Given the description of an element on the screen output the (x, y) to click on. 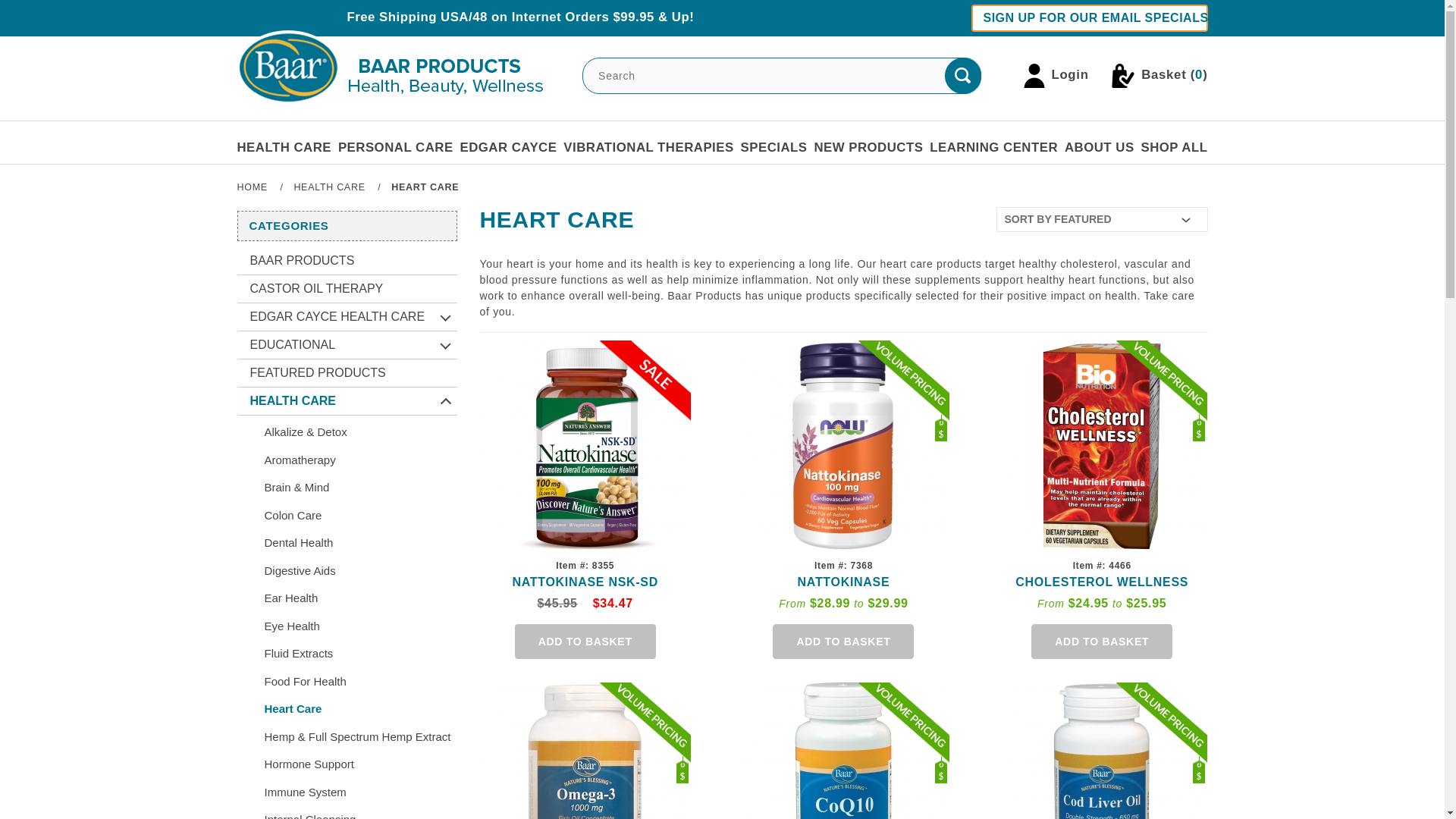
PERSONAL CARE (394, 147)
ABOUT US (1099, 147)
Health Care (293, 405)
Castor Oil Therapy (317, 293)
NEW PRODUCTS (868, 147)
Dental Health (352, 540)
Home (252, 187)
SIGN UP FOR OUR EMAIL SPECIALS (1089, 17)
Baar Products (302, 265)
VIBRATIONAL THERAPIES (648, 147)
Health Care (331, 187)
Featured Products (317, 377)
EDGAR CAYCE (508, 147)
Educational (293, 349)
Heart Care (424, 187)
